Given the description of an element on the screen output the (x, y) to click on. 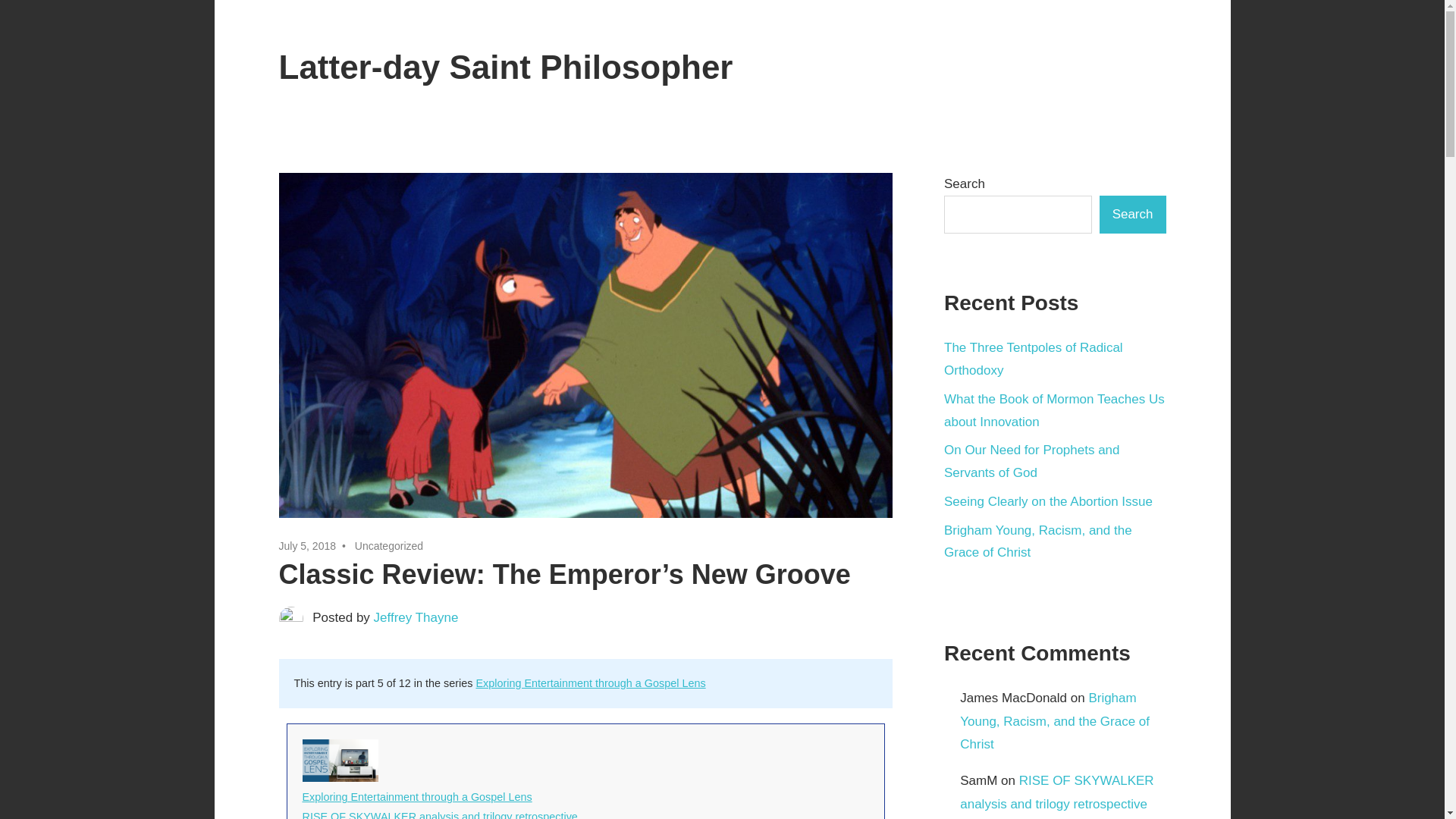
View all posts by Jeffrey Thayne (416, 617)
Latter-day Saint Philosopher (506, 66)
2:26 pm (307, 545)
Brigham Young, Racism, and the Grace of Christ (1037, 541)
On Our Need for Prophets and Servants of God (1031, 461)
What the Book of Mormon Teaches Us about Innovation (1053, 410)
July 5, 2018 (307, 545)
RISE OF SKYWALKER analysis and trilogy retrospective (438, 814)
Brigham Young, Racism, and the Grace of Christ (1054, 721)
Jeffrey Thayne (416, 617)
Seeing Clearly on the Abortion Issue (1048, 501)
RISE OF SKYWALKER analysis and trilogy retrospective (438, 814)
The Three Tentpoles of Radical Orthodoxy (1032, 358)
Search (1132, 214)
Exploring Entertainment through a Gospel Lens (590, 683)
